Given the description of an element on the screen output the (x, y) to click on. 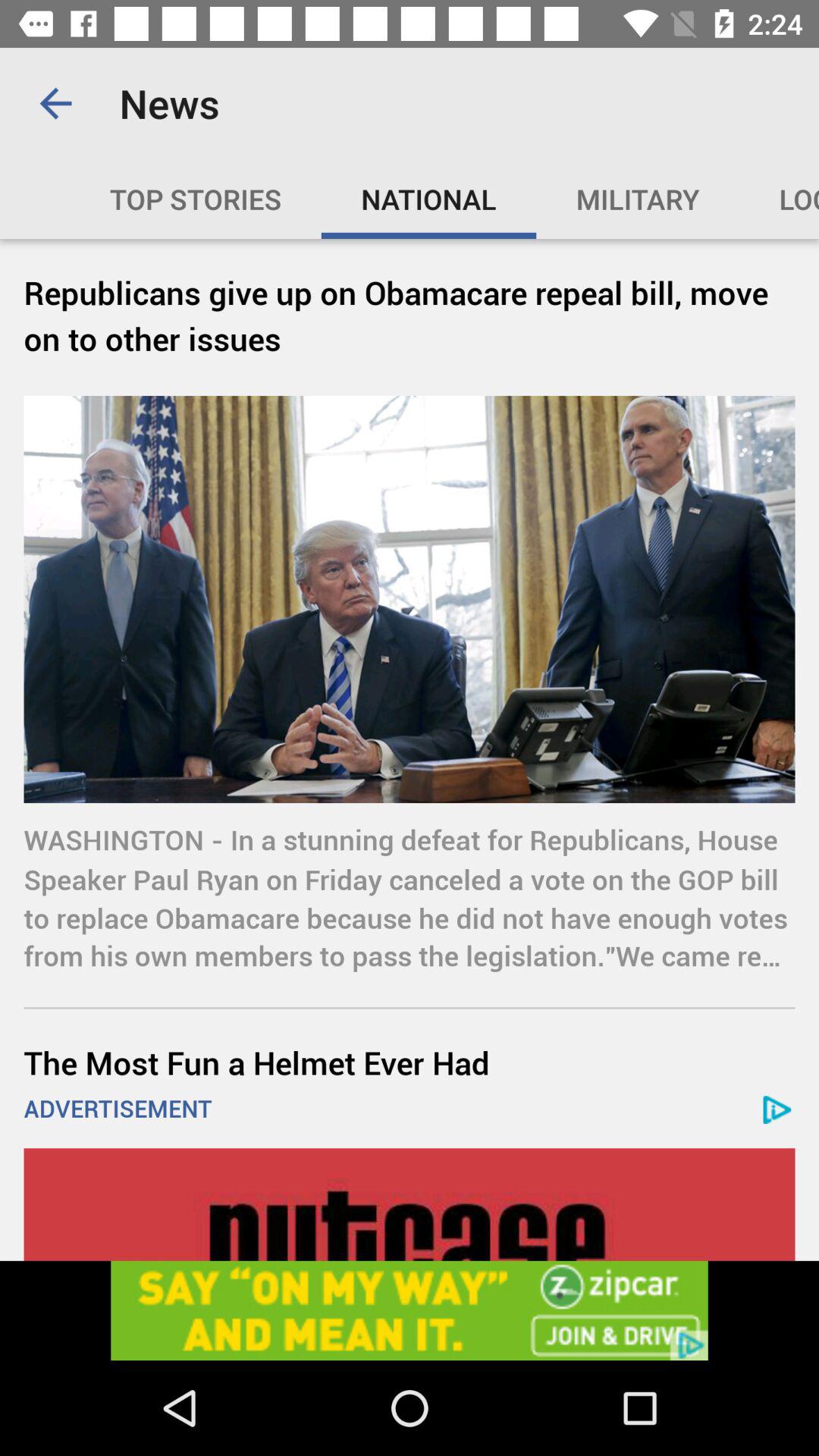
open (409, 1310)
